Given the description of an element on the screen output the (x, y) to click on. 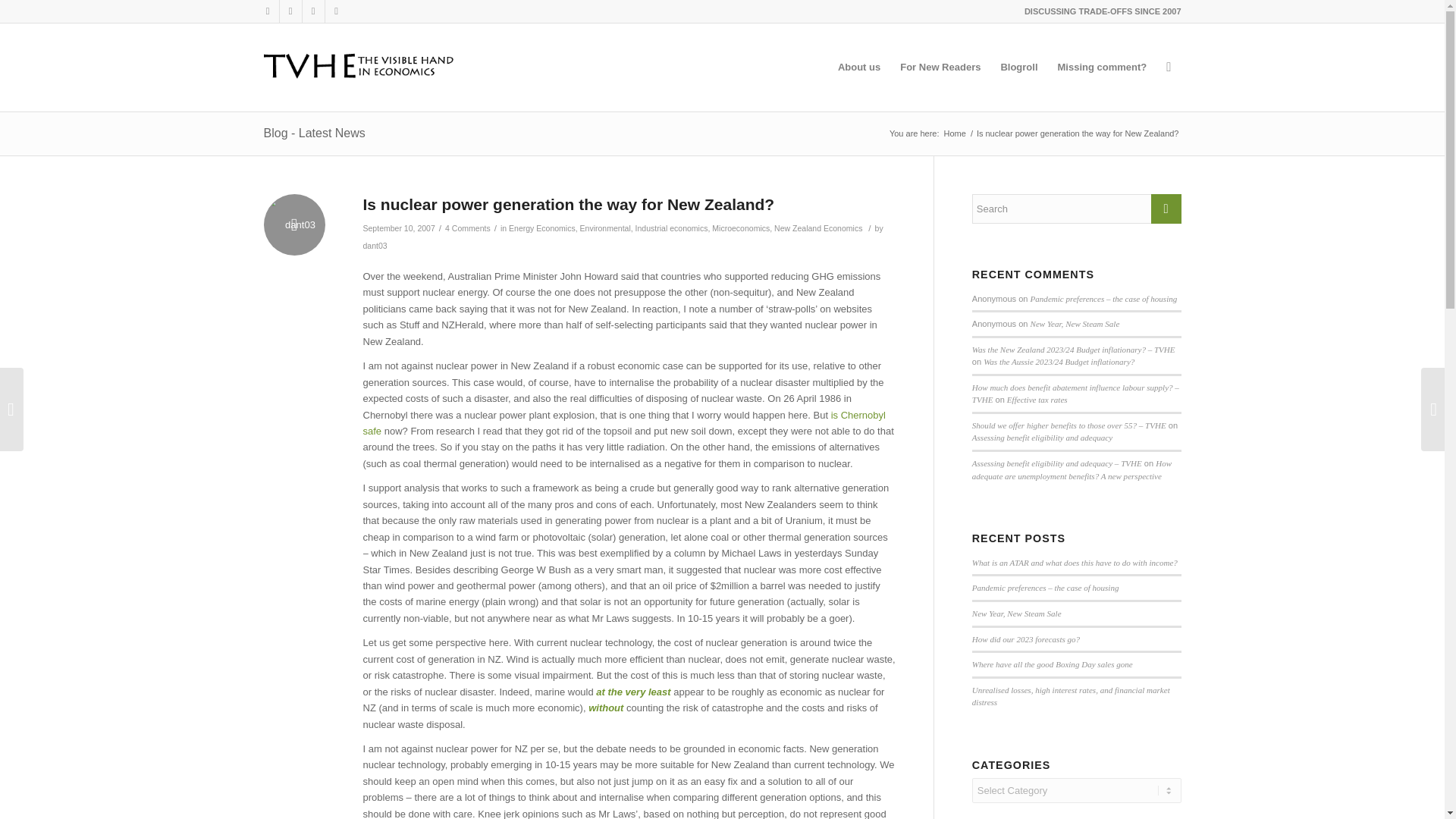
Home (955, 133)
Industrial economics (670, 227)
For New Readers (939, 67)
Environmental (604, 227)
Permanent Link: Blog - Latest News (314, 132)
Missing comment? (1102, 67)
Twitter (267, 11)
4 Comments (467, 227)
Microeconomics (740, 227)
